Given the description of an element on the screen output the (x, y) to click on. 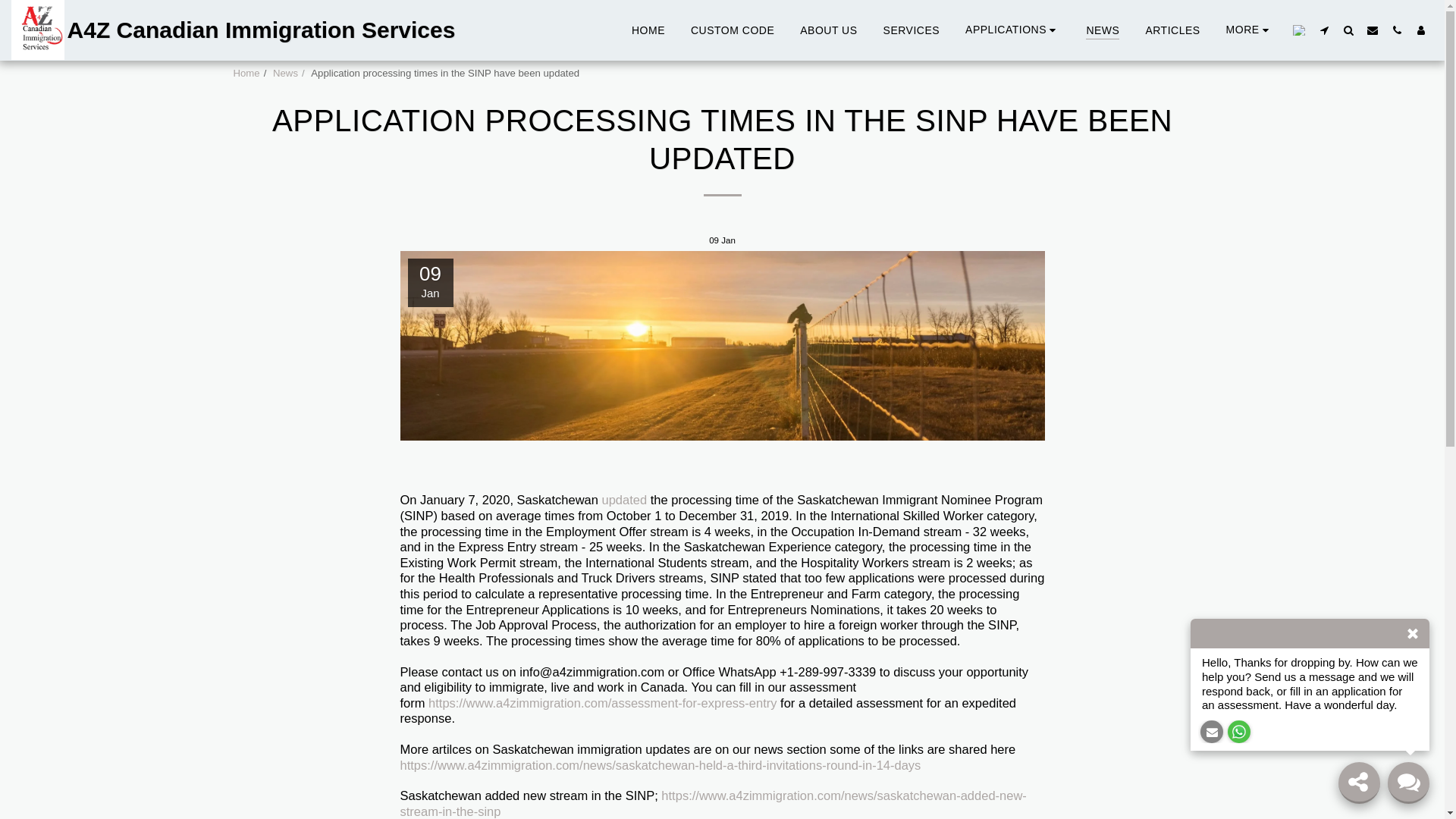
MORE   (1249, 29)
A4Z Canadian Immigration Services (232, 30)
SERVICES (911, 29)
HOME (648, 29)
ABOUT US (828, 29)
ARTICLES (1171, 29)
NEWS (1102, 29)
CUSTOM CODE (732, 29)
APPLICATIONS   (1012, 29)
